Given the description of an element on the screen output the (x, y) to click on. 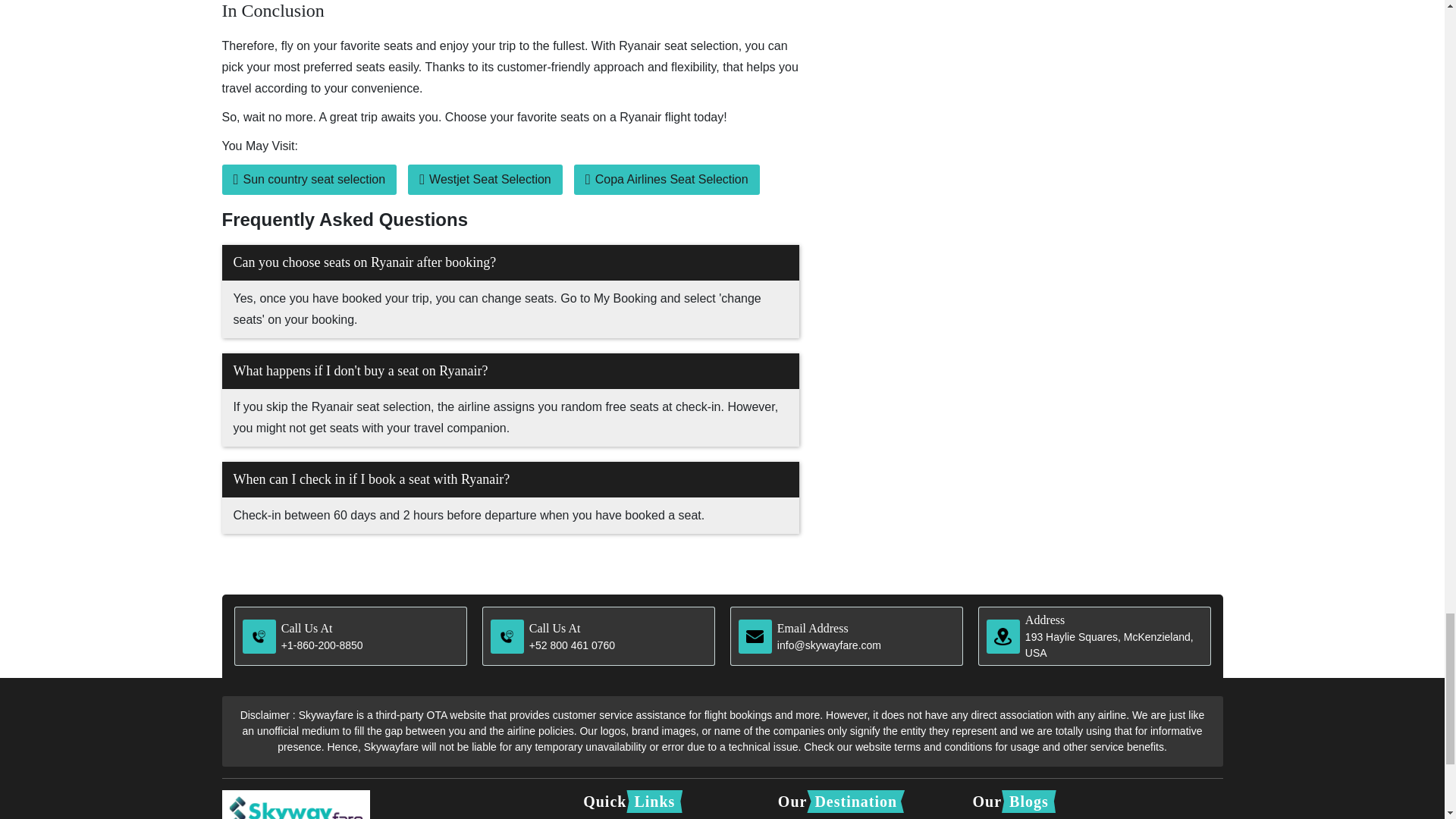
Westjet Seat Selection (484, 179)
Copa Airlines Seat Selection (666, 179)
Sun country seat selection (308, 179)
